Given the description of an element on the screen output the (x, y) to click on. 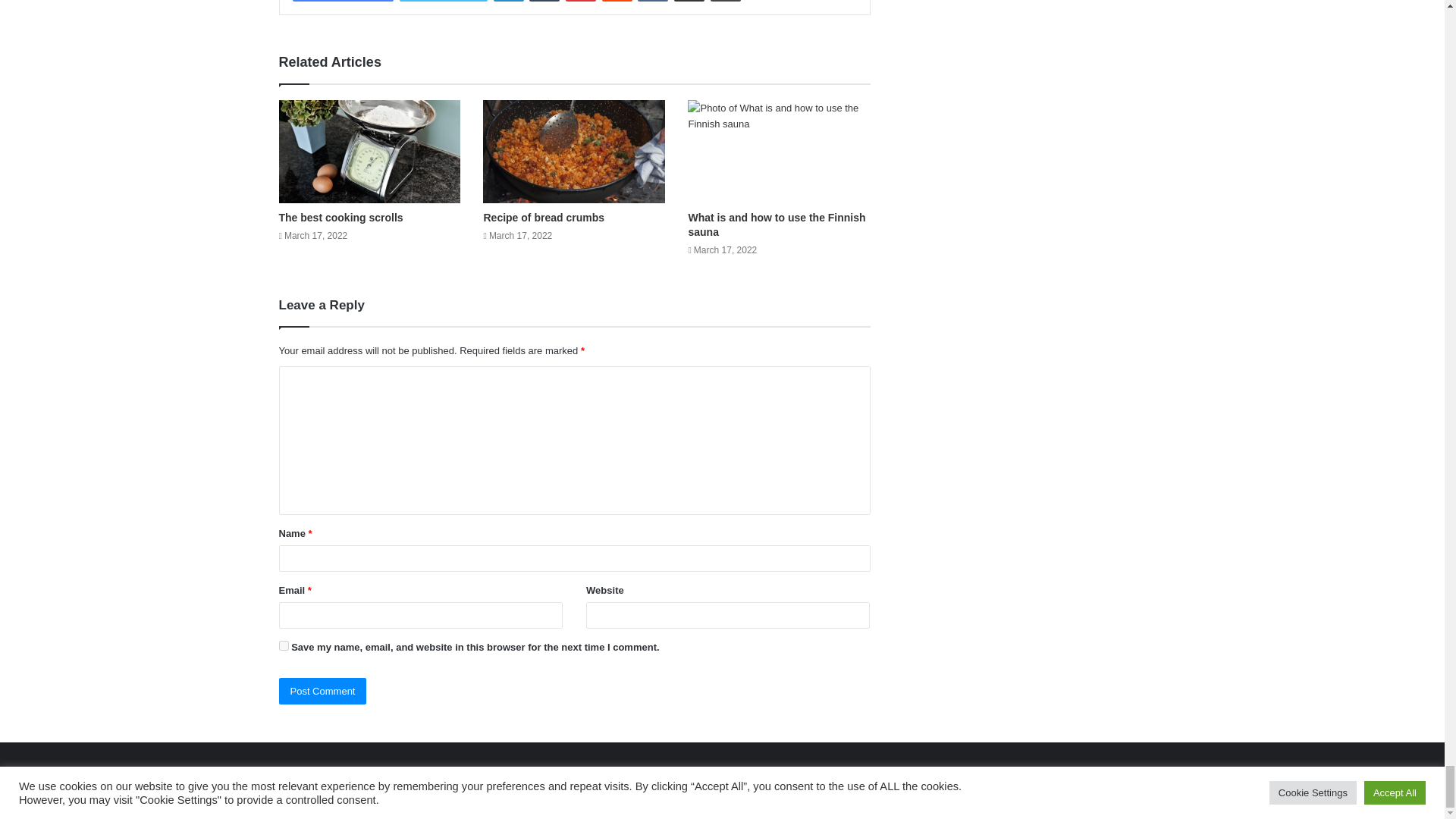
The best cooking scrolls (341, 217)
LinkedIn (508, 0)
Reddit (616, 0)
yes (283, 645)
Tumblr (544, 0)
Post Comment (322, 691)
VKontakte (652, 0)
VKontakte (652, 0)
Twitter (442, 0)
Share via Email (689, 0)
Facebook (343, 0)
Tumblr (544, 0)
Pinterest (580, 0)
Pinterest (580, 0)
LinkedIn (508, 0)
